Given the description of an element on the screen output the (x, y) to click on. 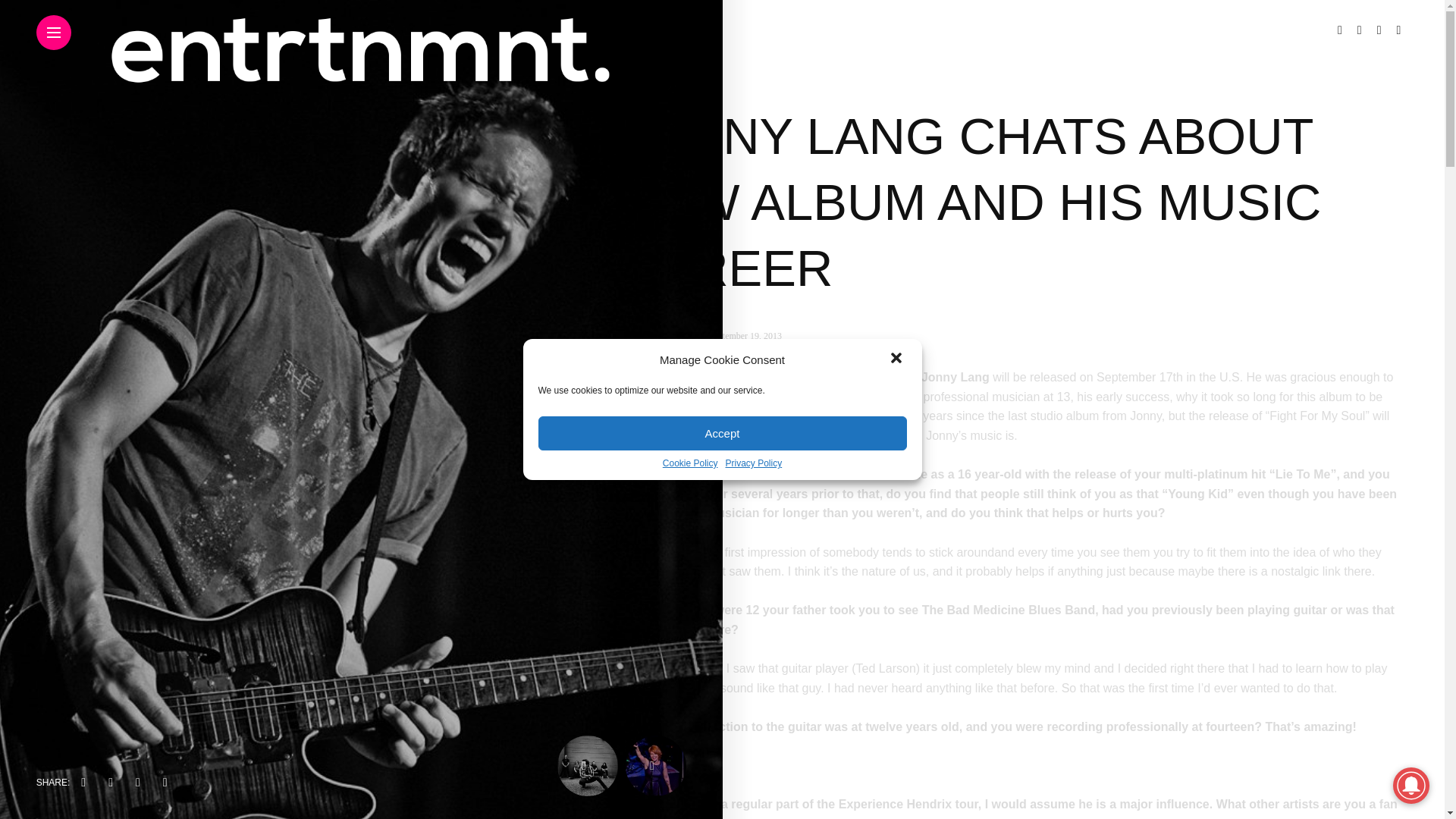
Privacy Policy (753, 462)
Accept (722, 433)
MUSIC (646, 78)
Cookie Policy (689, 462)
Posts by David Medeiros (663, 335)
David Medeiros (663, 335)
